Given the description of an element on the screen output the (x, y) to click on. 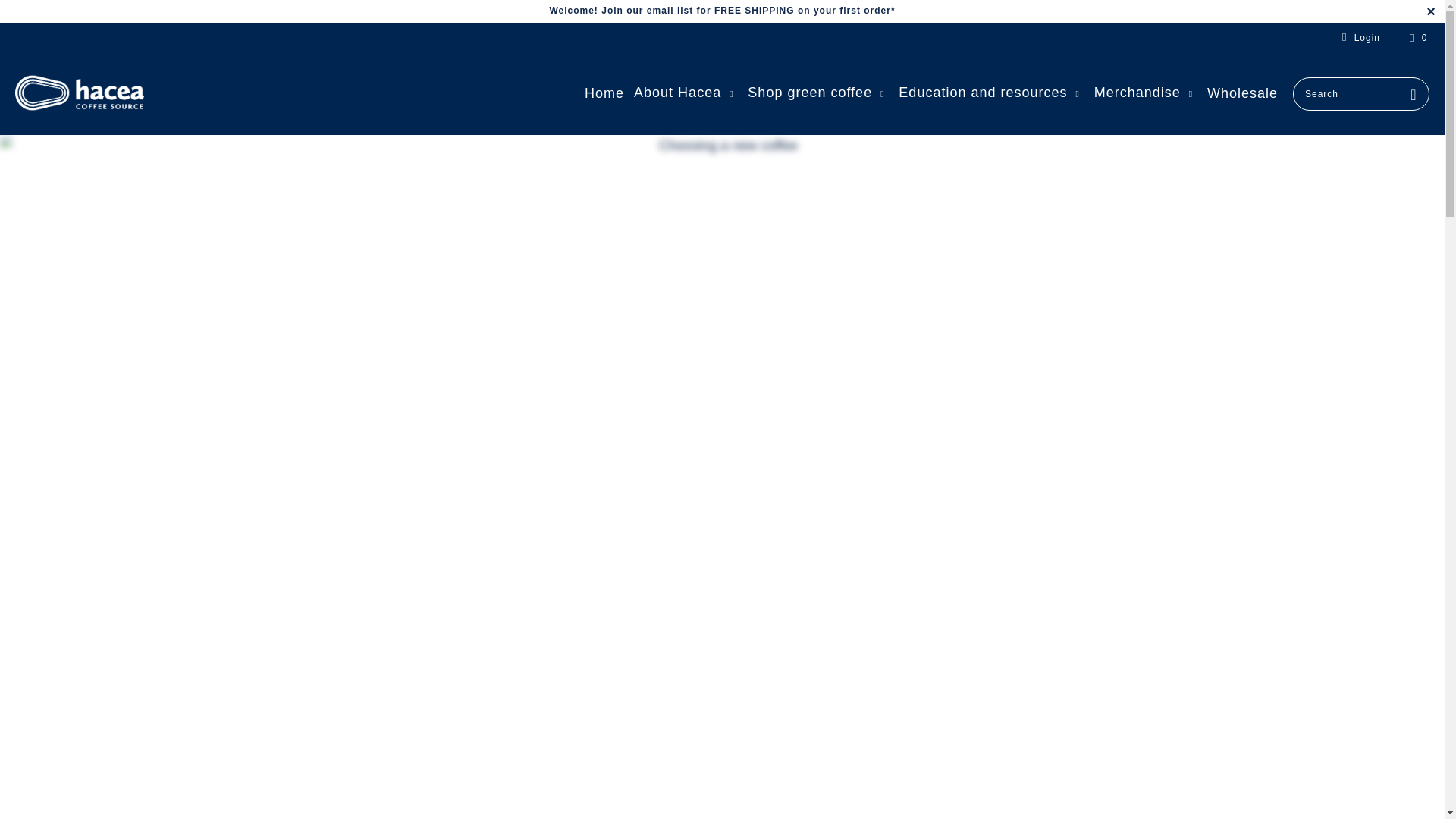
My Account  (1358, 38)
Hacea Coffee Source (79, 93)
Email sign up page (721, 9)
